Given the description of an element on the screen output the (x, y) to click on. 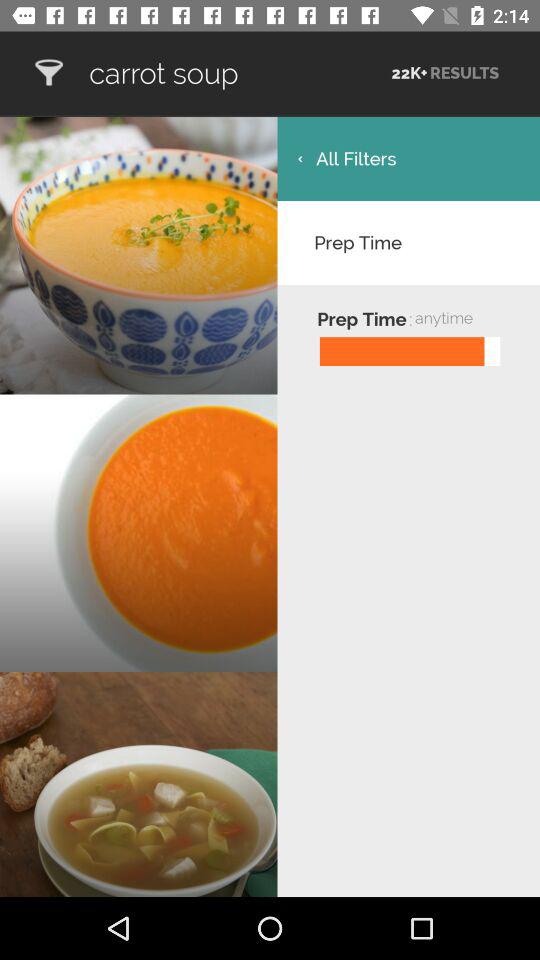
turn off the icon below carrot soup icon (408, 158)
